Given the description of an element on the screen output the (x, y) to click on. 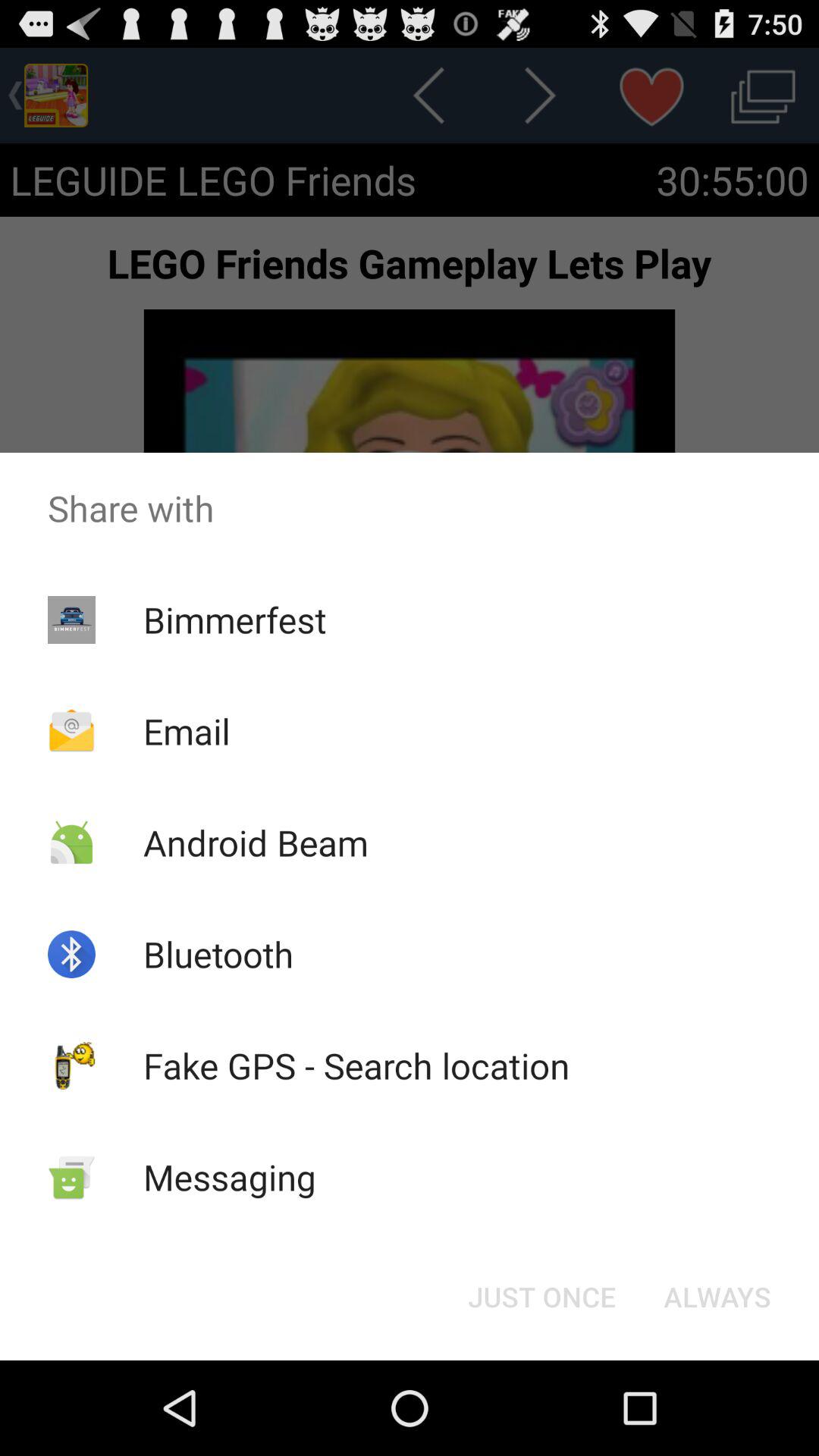
flip until bimmerfest item (234, 619)
